Given the description of an element on the screen output the (x, y) to click on. 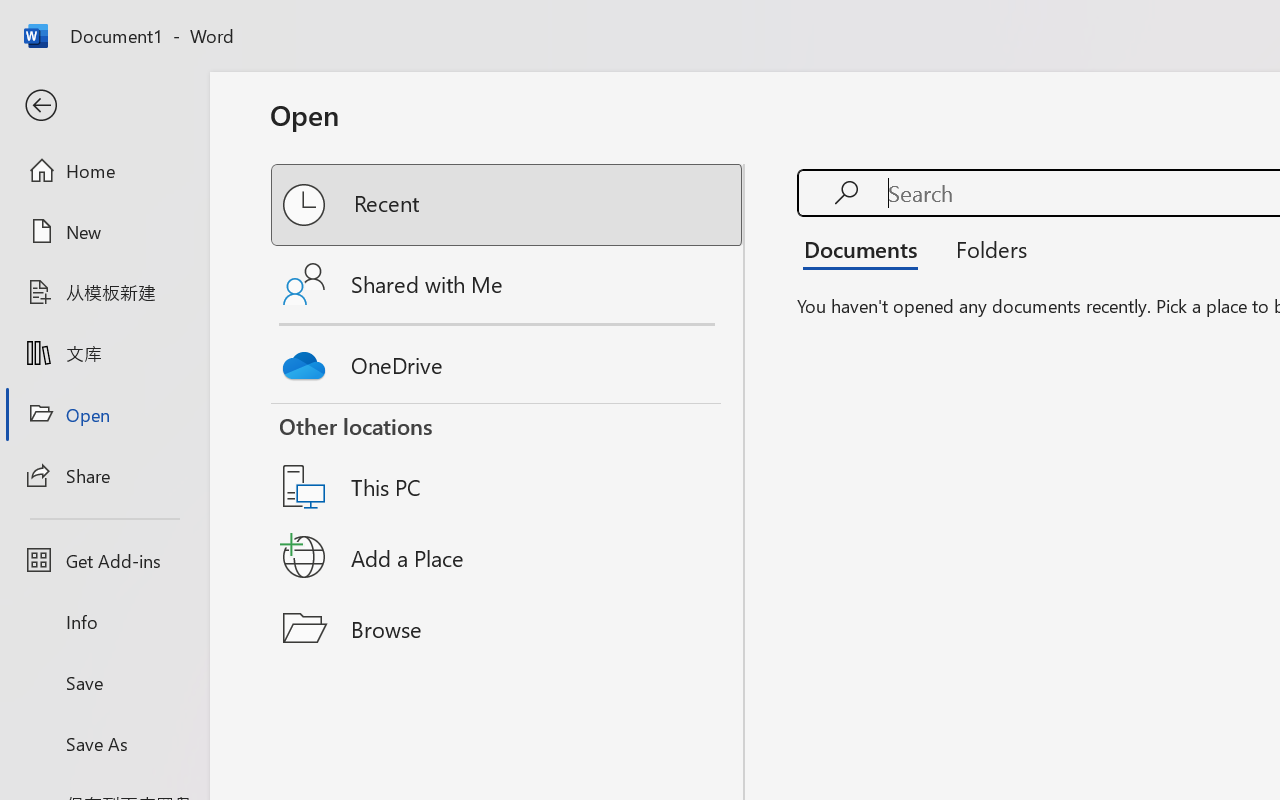
OneDrive (507, 359)
Folders (984, 248)
Add a Place (507, 557)
New (104, 231)
